Given the description of an element on the screen output the (x, y) to click on. 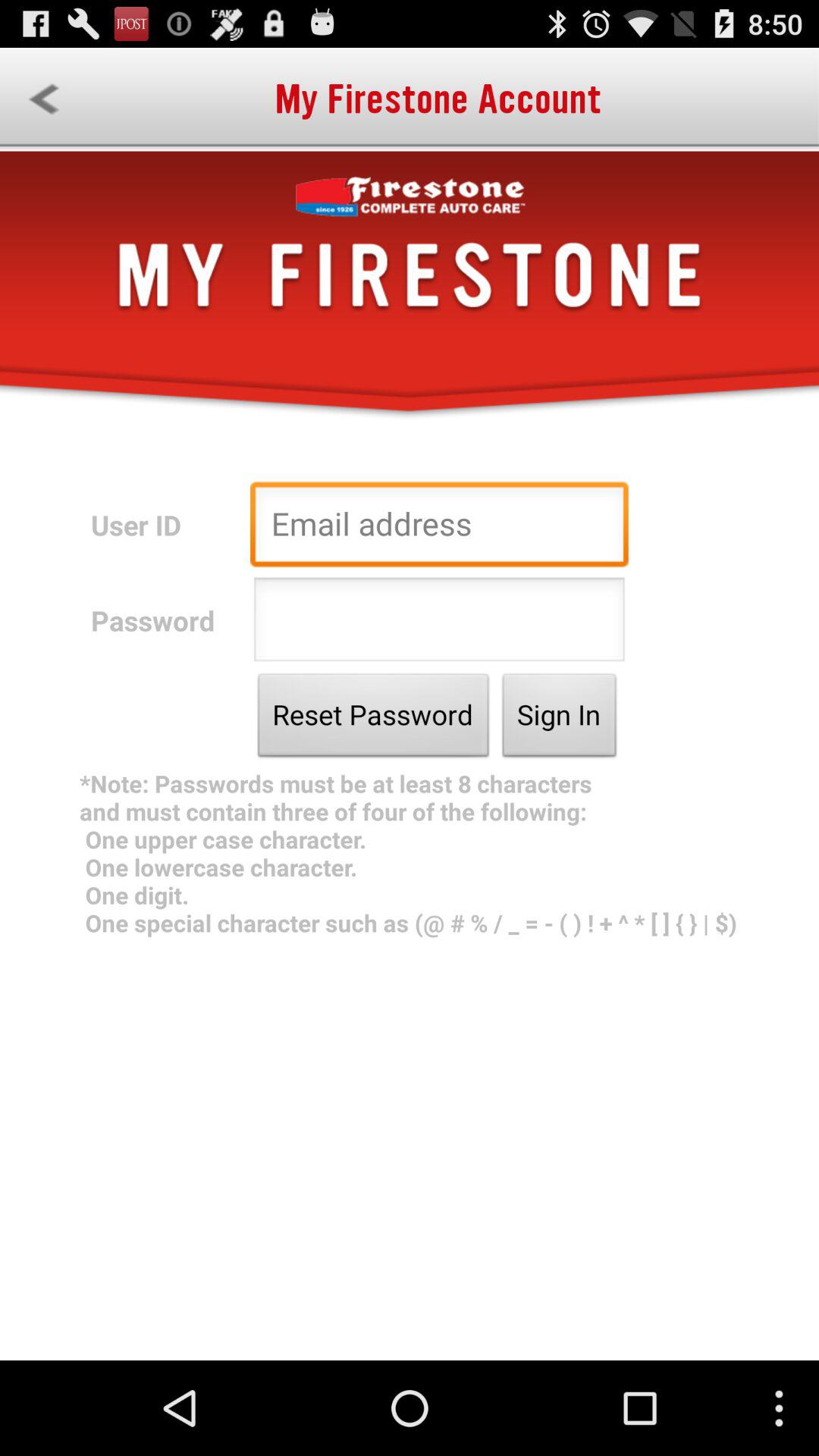
open the item on the right (559, 719)
